Given the description of an element on the screen output the (x, y) to click on. 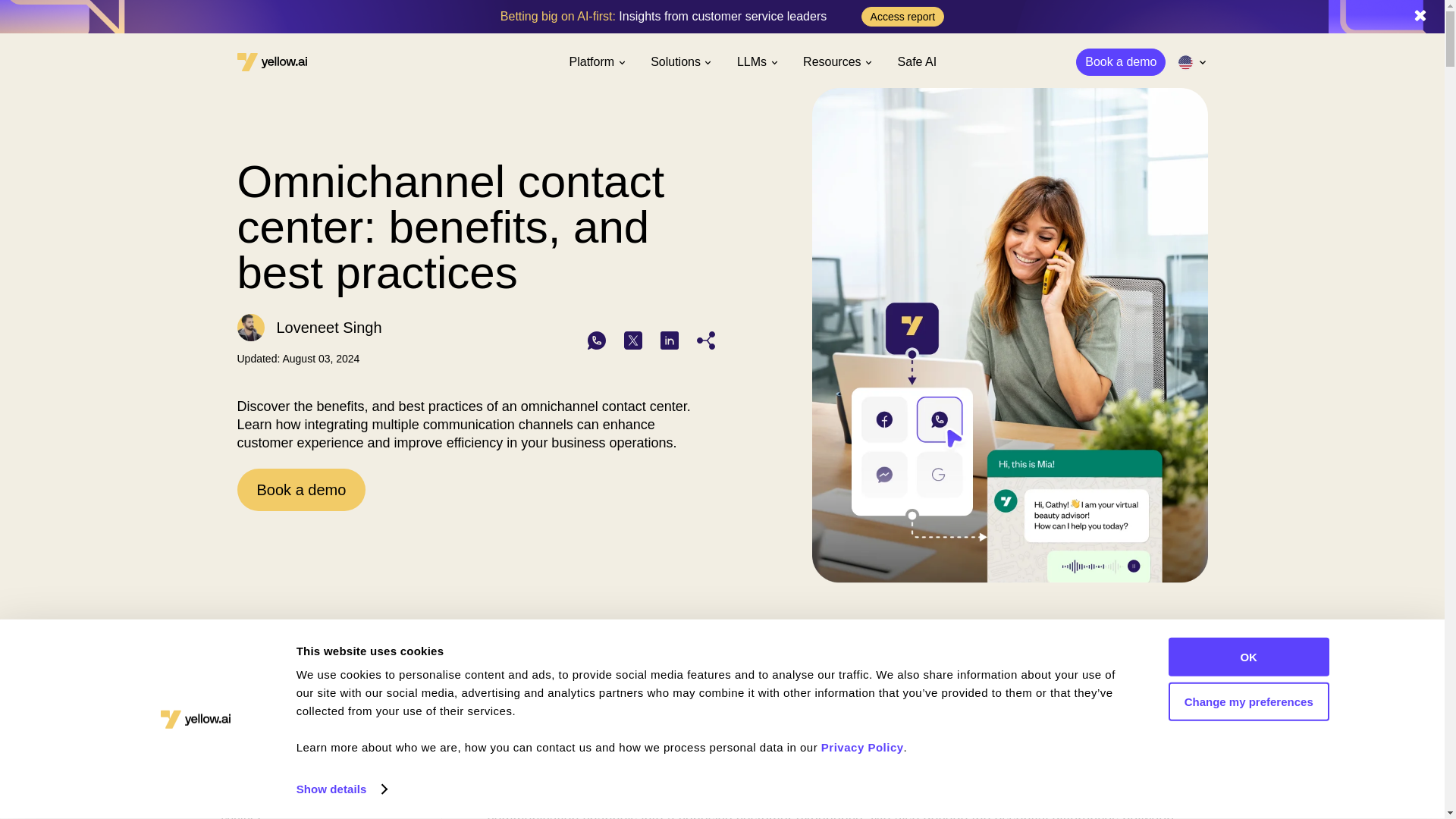
Show details (341, 789)
Privacy Policy (862, 747)
